Given the description of an element on the screen output the (x, y) to click on. 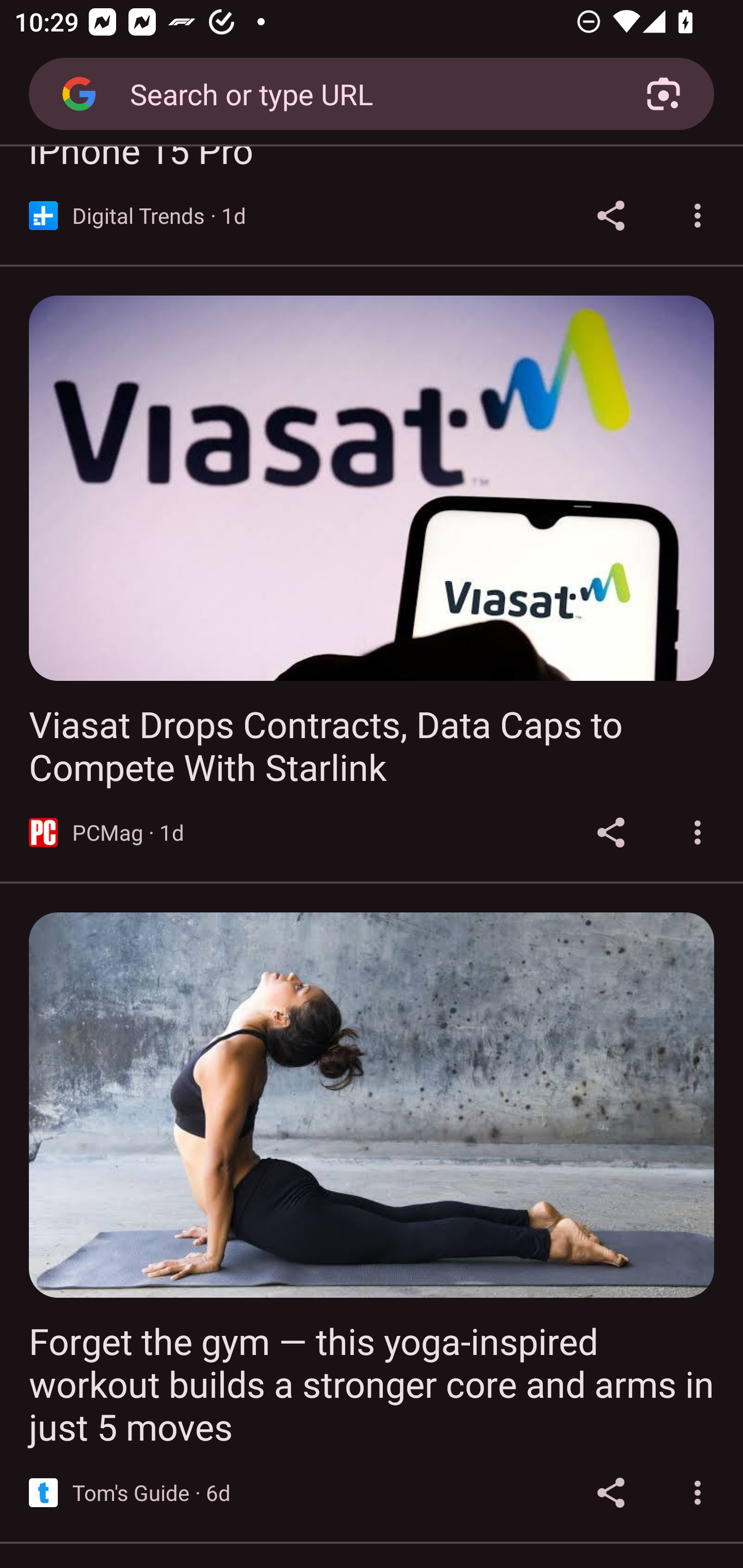
Search with your camera using Google Lens (663, 93)
Search or type URL (364, 92)
